Given the description of an element on the screen output the (x, y) to click on. 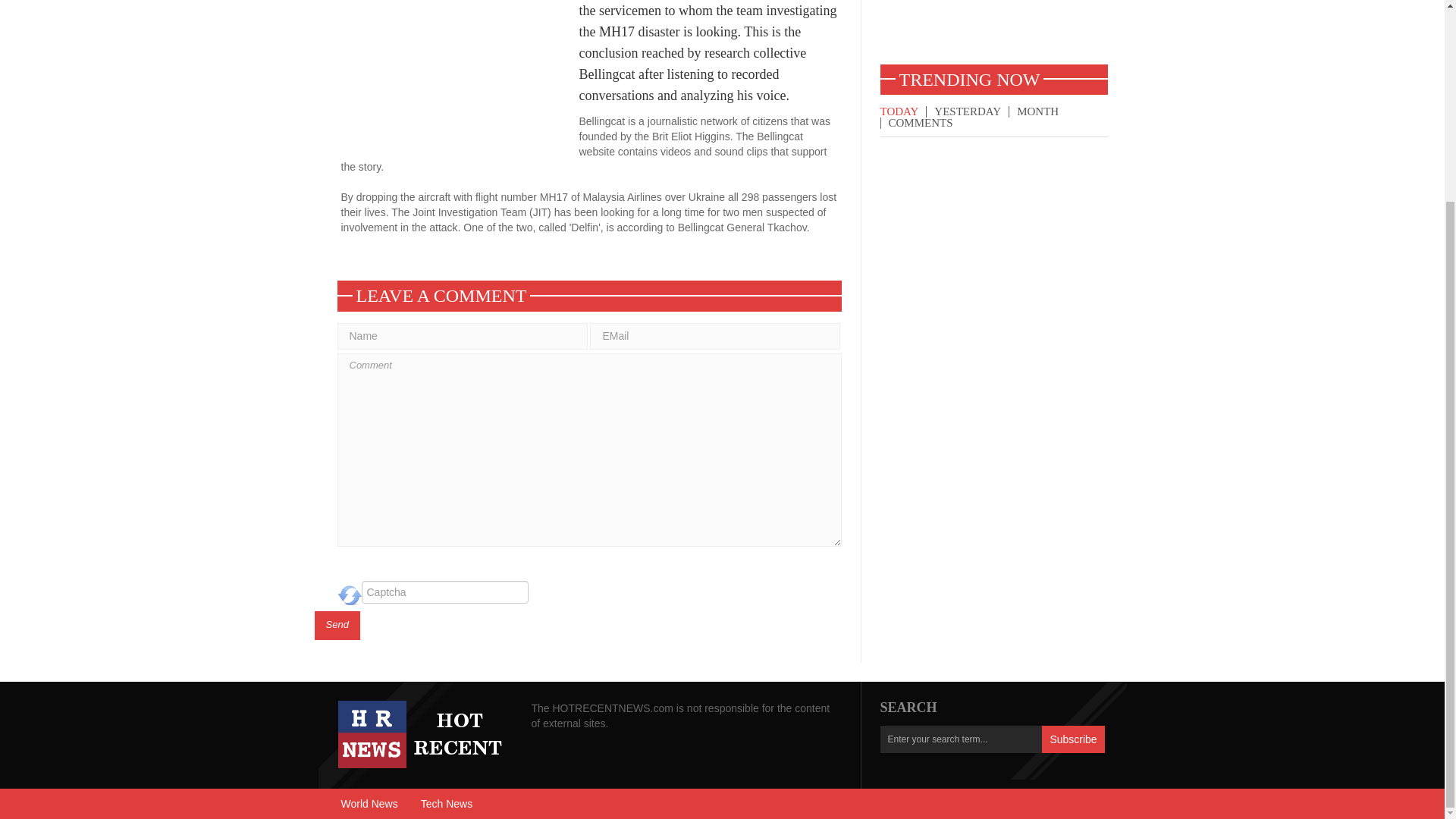
Subscribe (1072, 738)
Send (336, 624)
Send (336, 624)
Advertisement (992, 32)
Enter your search term... (960, 738)
Advertisement (459, 76)
